Given the description of an element on the screen output the (x, y) to click on. 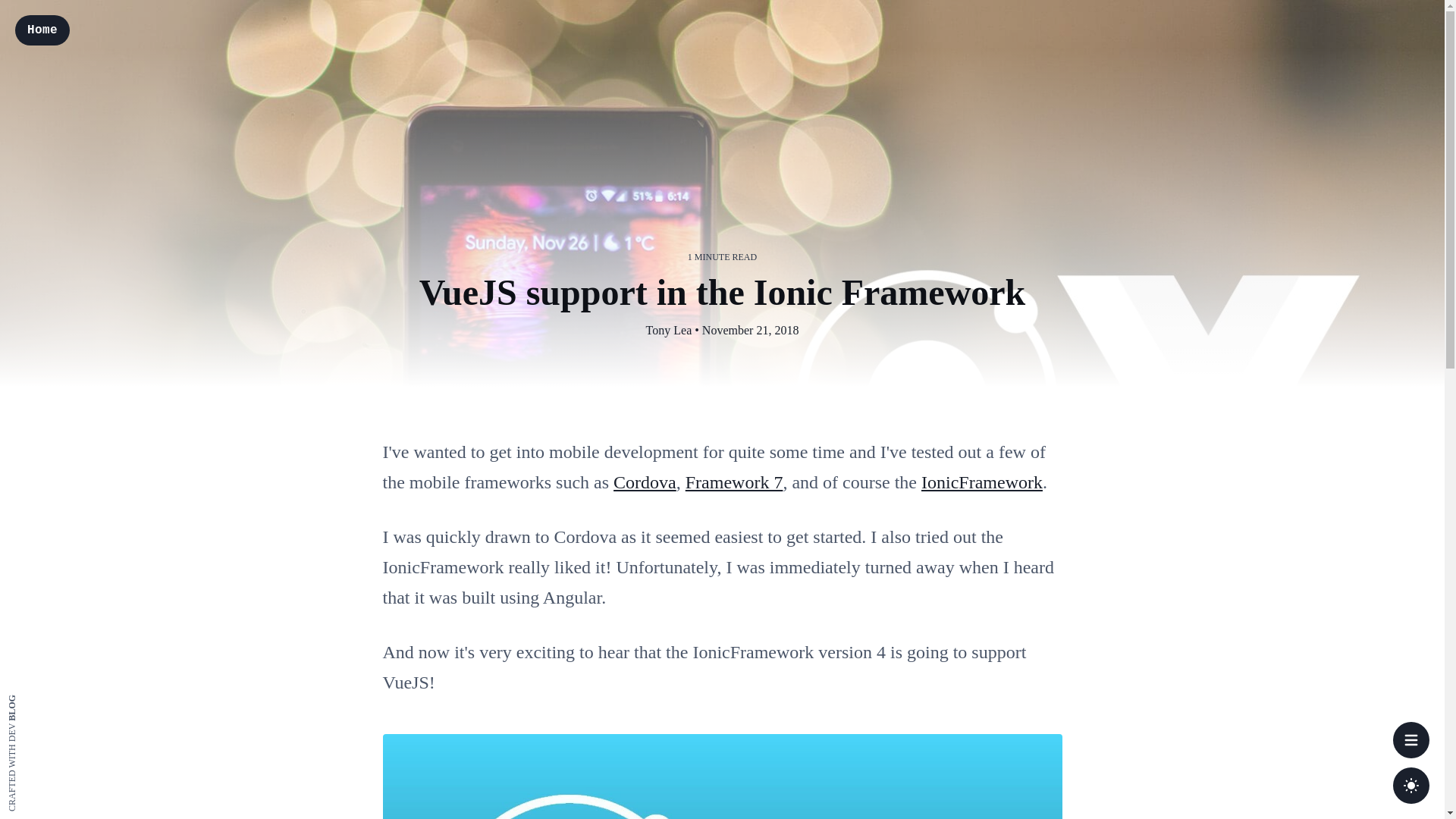
Home (41, 30)
Cordova (644, 482)
CRAFTED WITH DEV BLOG (65, 698)
IonicFramework (981, 482)
Tony Lea (669, 330)
Framework 7 (734, 482)
